Given the description of an element on the screen output the (x, y) to click on. 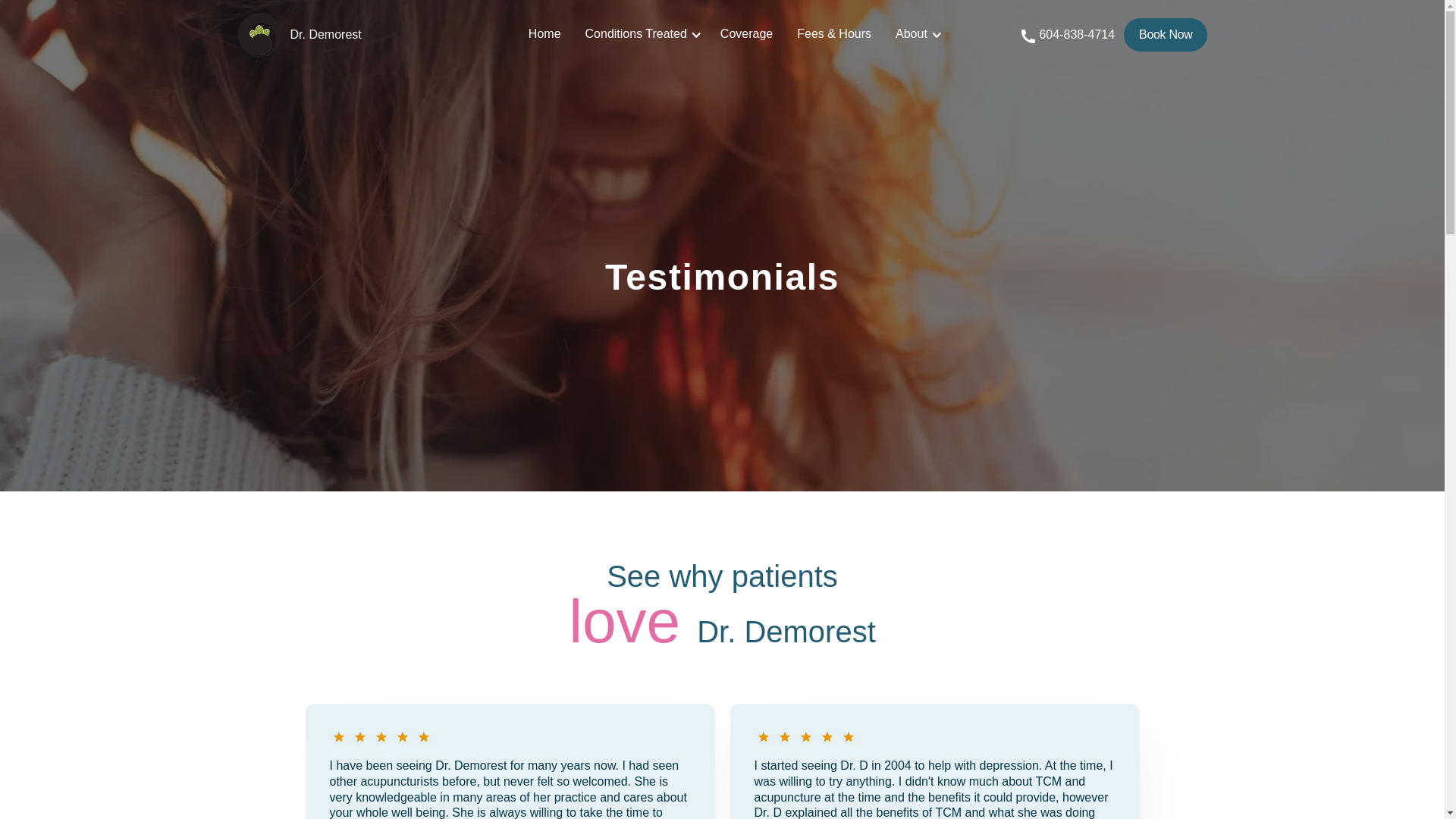
Dr. Demorest (347, 34)
Conditions Treated (636, 36)
Coverage (746, 36)
Home (544, 36)
About (911, 36)
604-838-4714 (1077, 36)
Book Now (1165, 34)
